Given the description of an element on the screen output the (x, y) to click on. 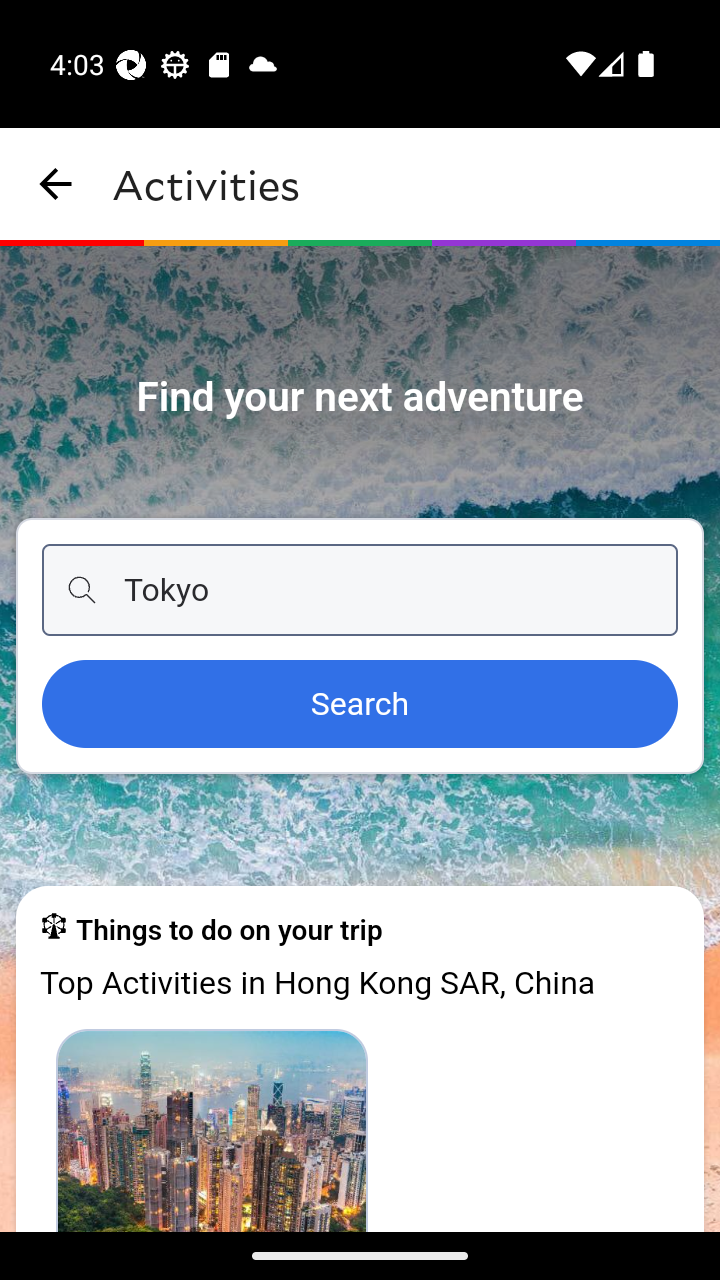
navigation_button (56, 184)
Tokyo (359, 590)
Search (359, 705)
Find top deals Hong Kong Find top deals (211, 1129)
